Given the description of an element on the screen output the (x, y) to click on. 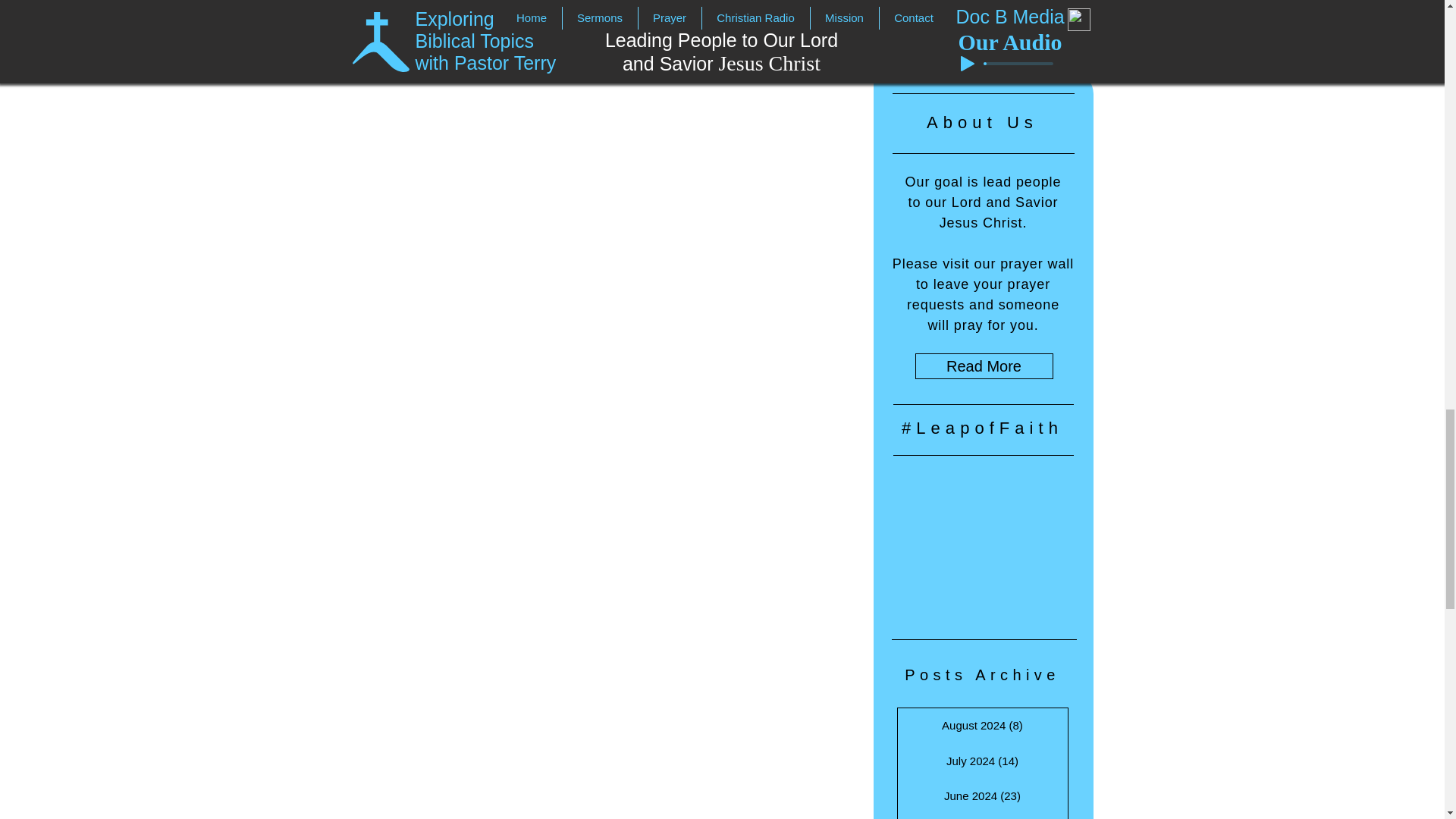
Read More (983, 365)
0 (803, 11)
Post not marked as liked (1050, 11)
0 (436, 11)
Post not marked as liked (683, 11)
